Given the description of an element on the screen output the (x, y) to click on. 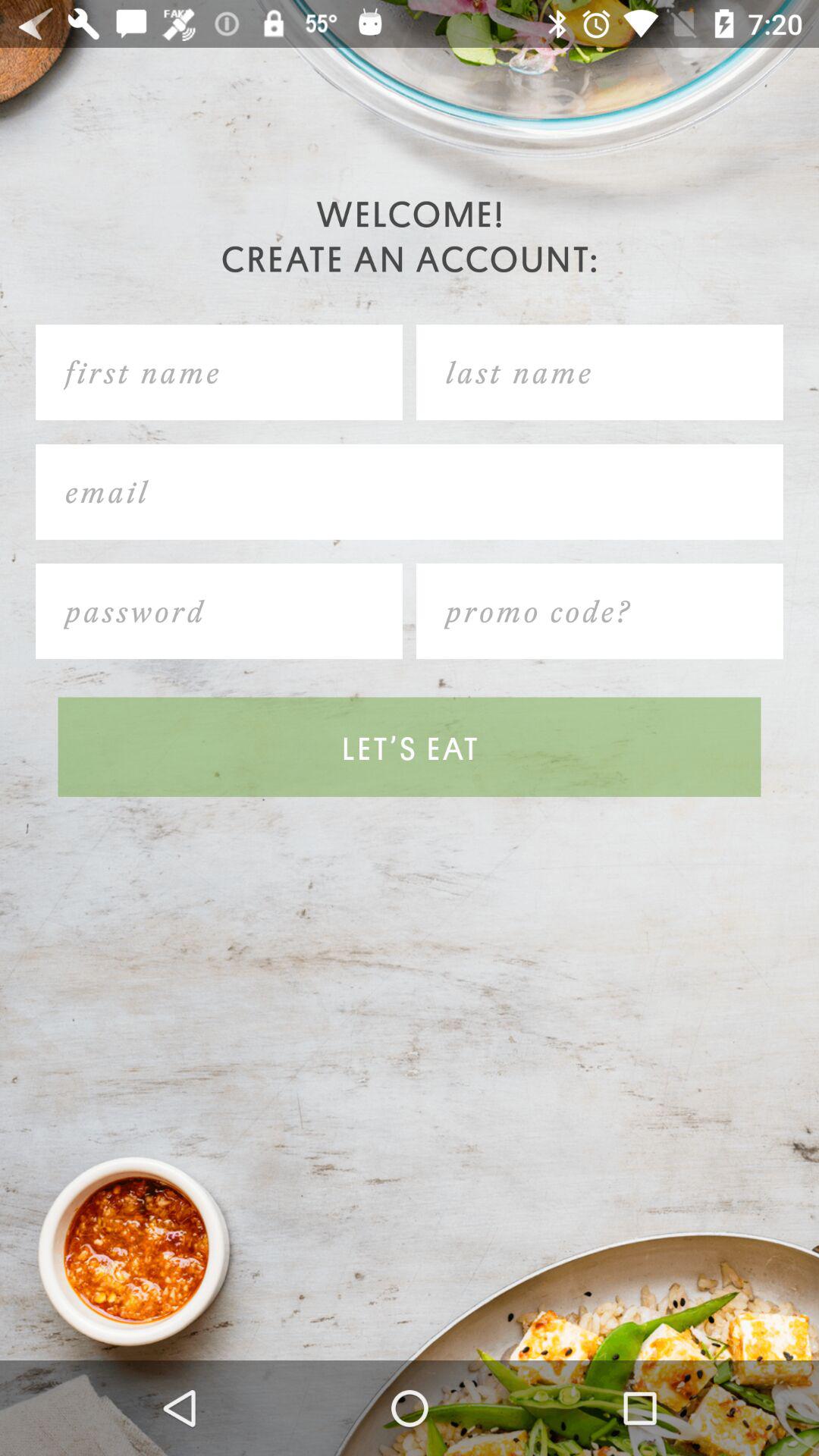
write a first name (218, 372)
